Given the description of an element on the screen output the (x, y) to click on. 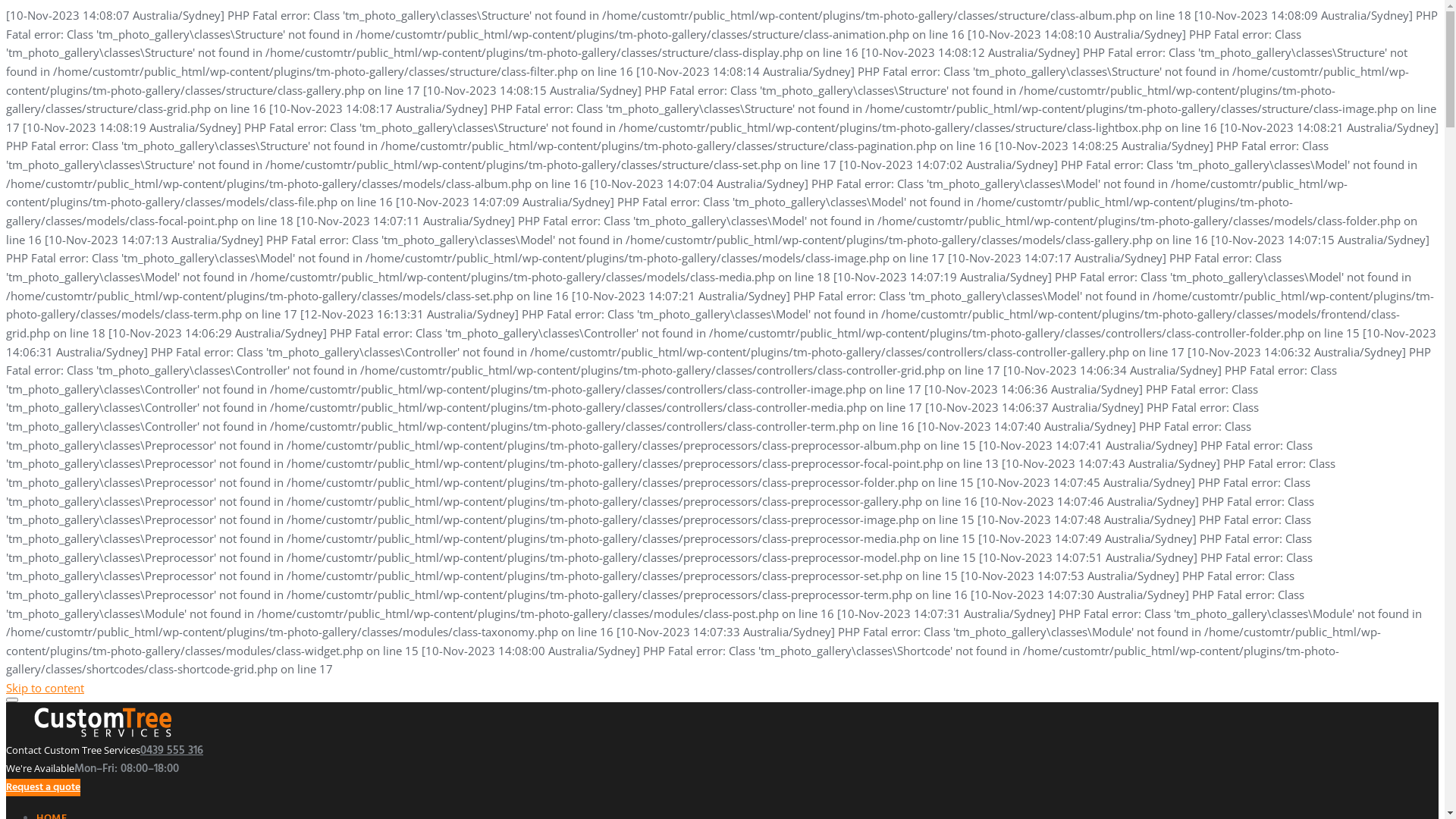
Skip to content Element type: text (45, 687)
Request a quote Element type: text (43, 787)
0439 555 316 Element type: text (171, 750)
